Given the description of an element on the screen output the (x, y) to click on. 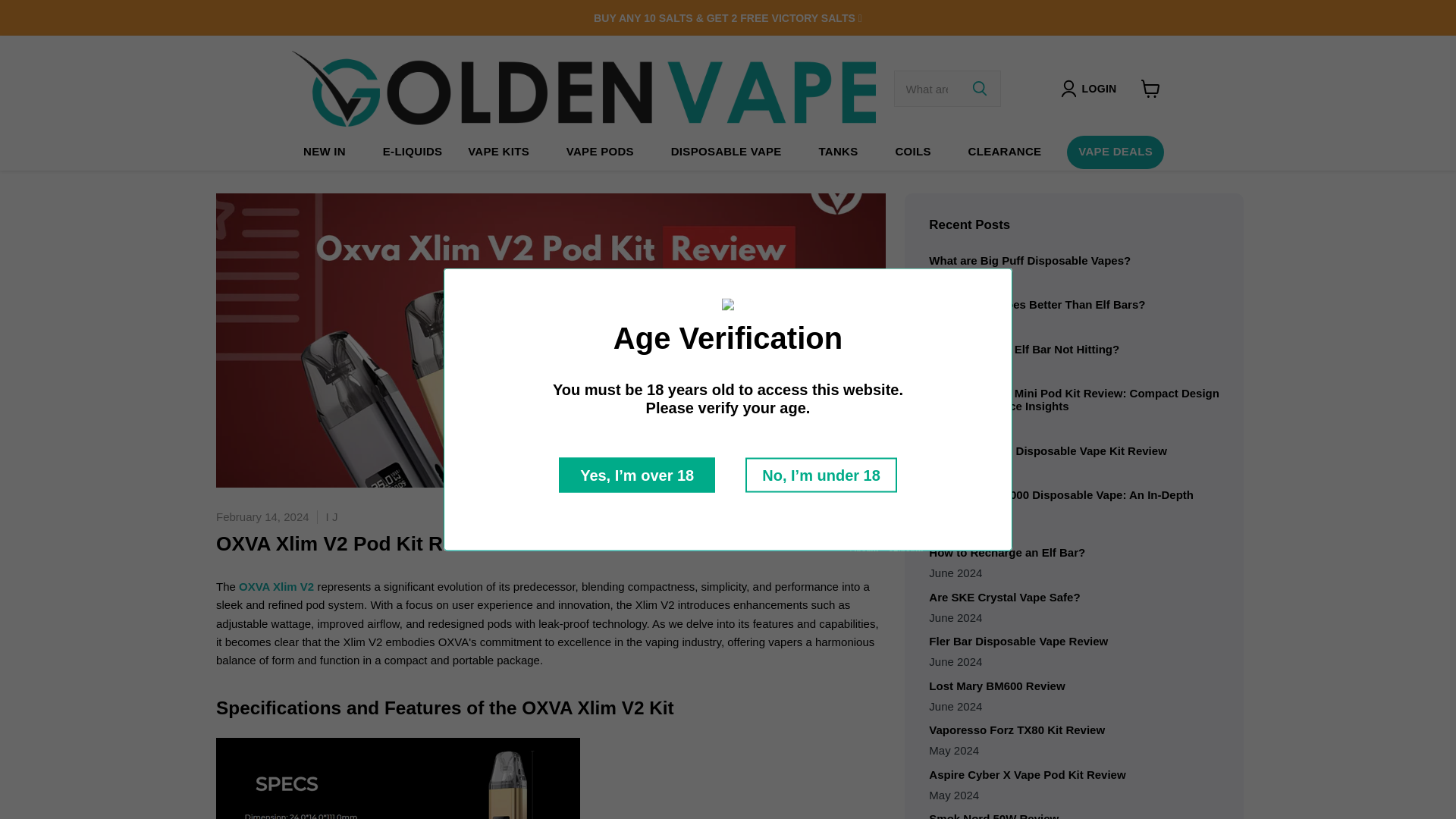
NEW IN (324, 151)
E-LIQUIDS (412, 151)
View cart (1150, 88)
LOGIN (1098, 88)
